Given the description of an element on the screen output the (x, y) to click on. 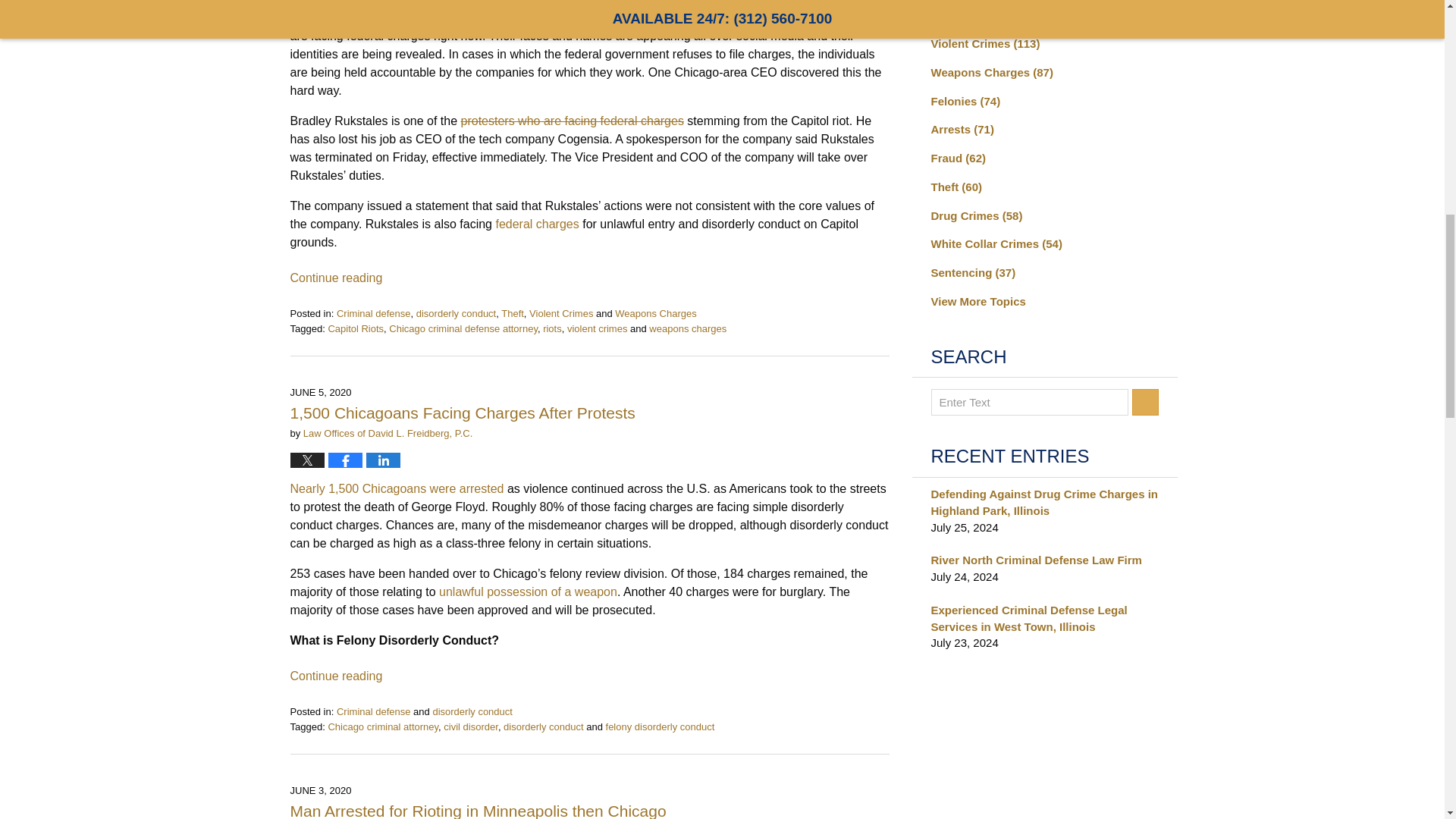
View all posts in disorderly conduct (456, 313)
View all posts tagged with riots (552, 328)
View all posts in Theft (512, 313)
View all posts in Criminal defense (373, 313)
View all posts in Violent Crimes (560, 313)
View all posts tagged with Capitol Riots (355, 328)
View all posts in Weapons Charges (654, 313)
View all posts tagged with Chicago criminal defense attorney (462, 328)
